Given the description of an element on the screen output the (x, y) to click on. 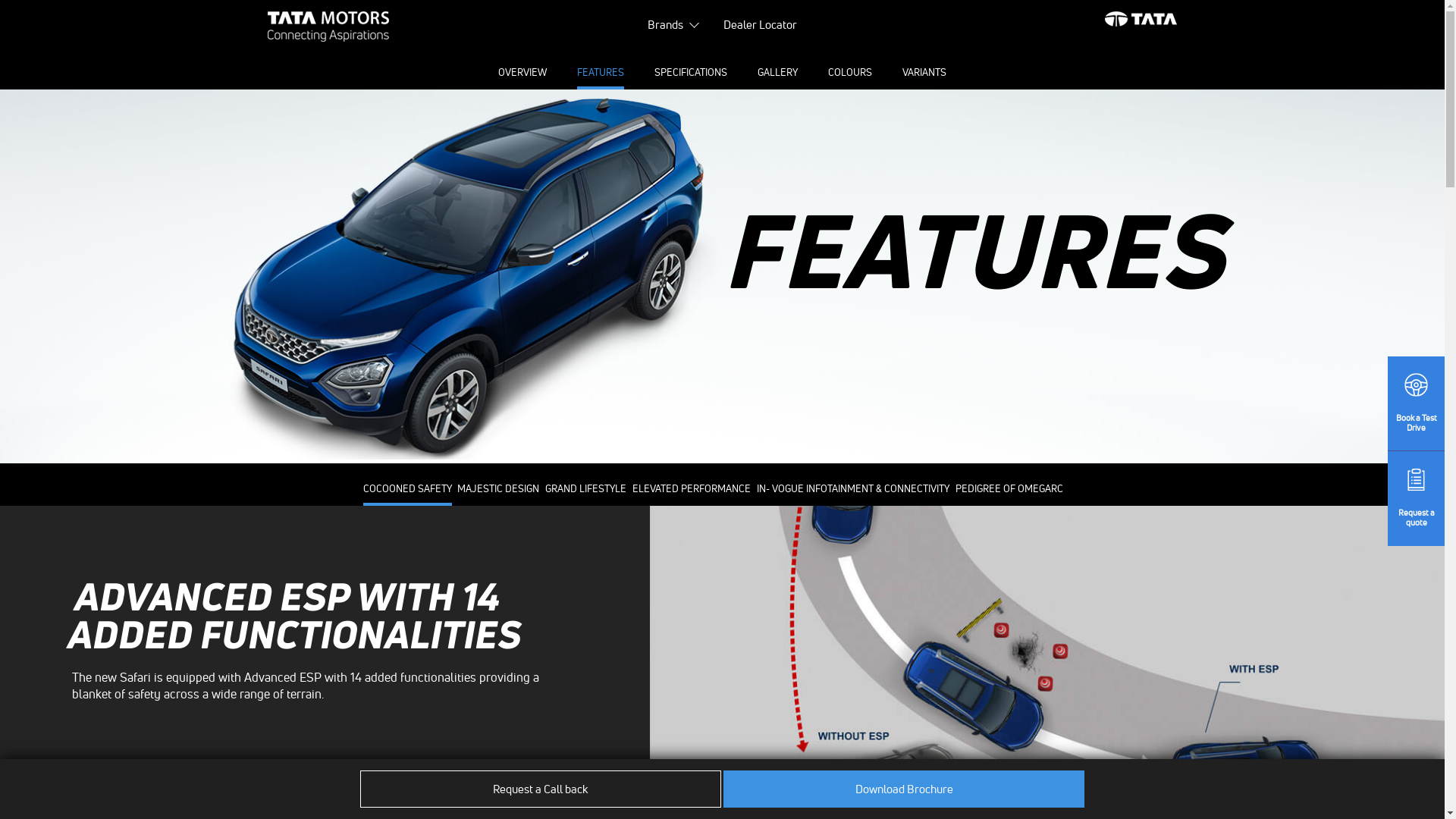
Request a Call back Element type: text (540, 788)
OVERVIEW Element type: text (522, 72)
Book a Test Drive Element type: text (1415, 403)
Tata Nexon Features Element type: hover (722, 275)
Dealer Locator Element type: text (760, 27)
GALLERY Element type: text (777, 72)
FEATURES Element type: text (600, 72)
Download Brochure Element type: text (903, 788)
Request a quote Element type: text (1415, 498)
Tata Nexon steel structure for safety Element type: hover (1046, 647)
VARIANTS Element type: text (924, 72)
SPECIFICATIONS Element type: text (690, 72)
Brands Element type: text (665, 27)
COLOURS Element type: text (850, 72)
